Given the description of an element on the screen output the (x, y) to click on. 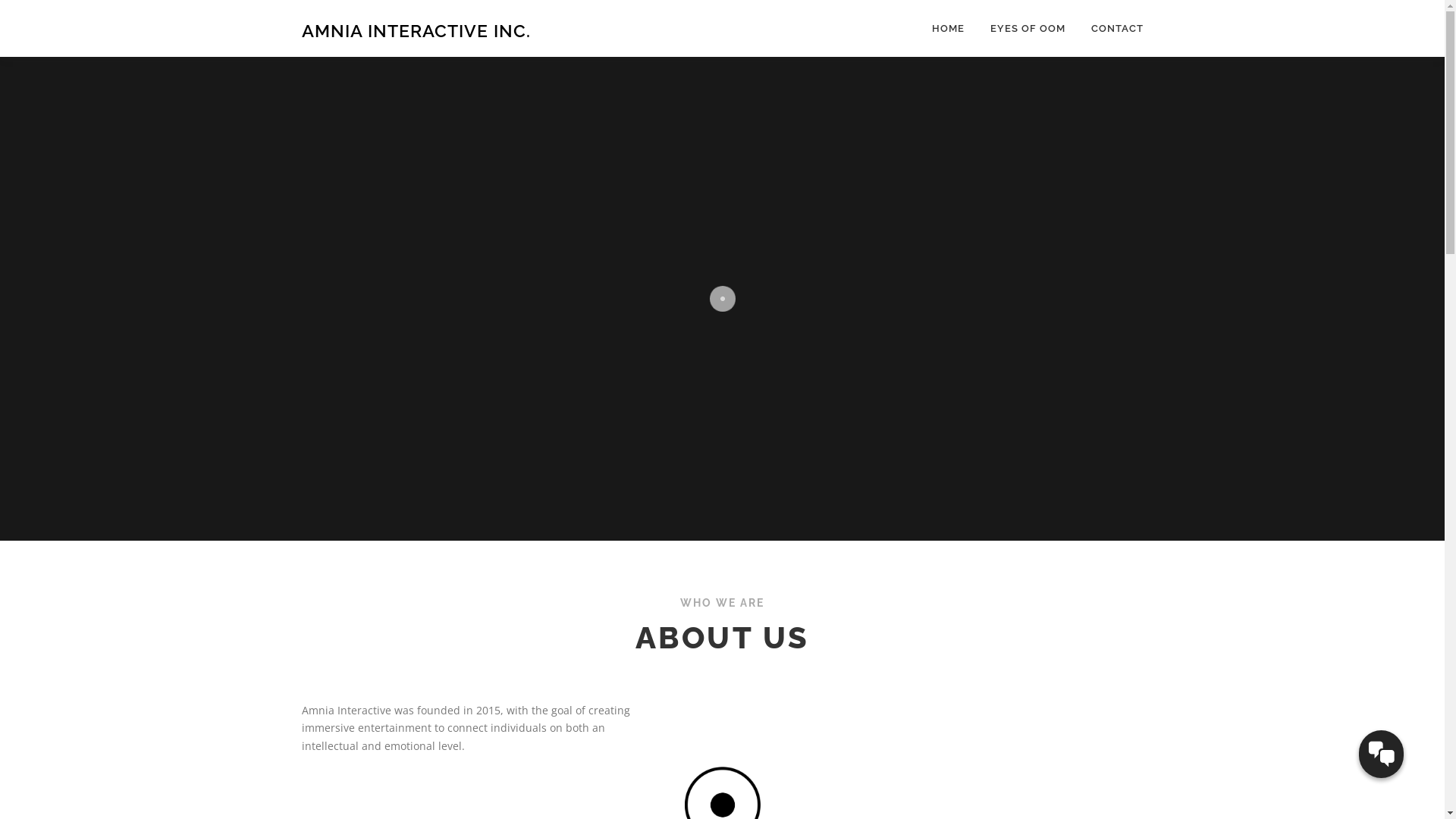
CONTACT Element type: text (1110, 28)
HOME Element type: text (948, 28)
EYES OF OOM Element type: text (1026, 28)
AMNIA INTERACTIVE INC. Element type: text (415, 30)
